Given the description of an element on the screen output the (x, y) to click on. 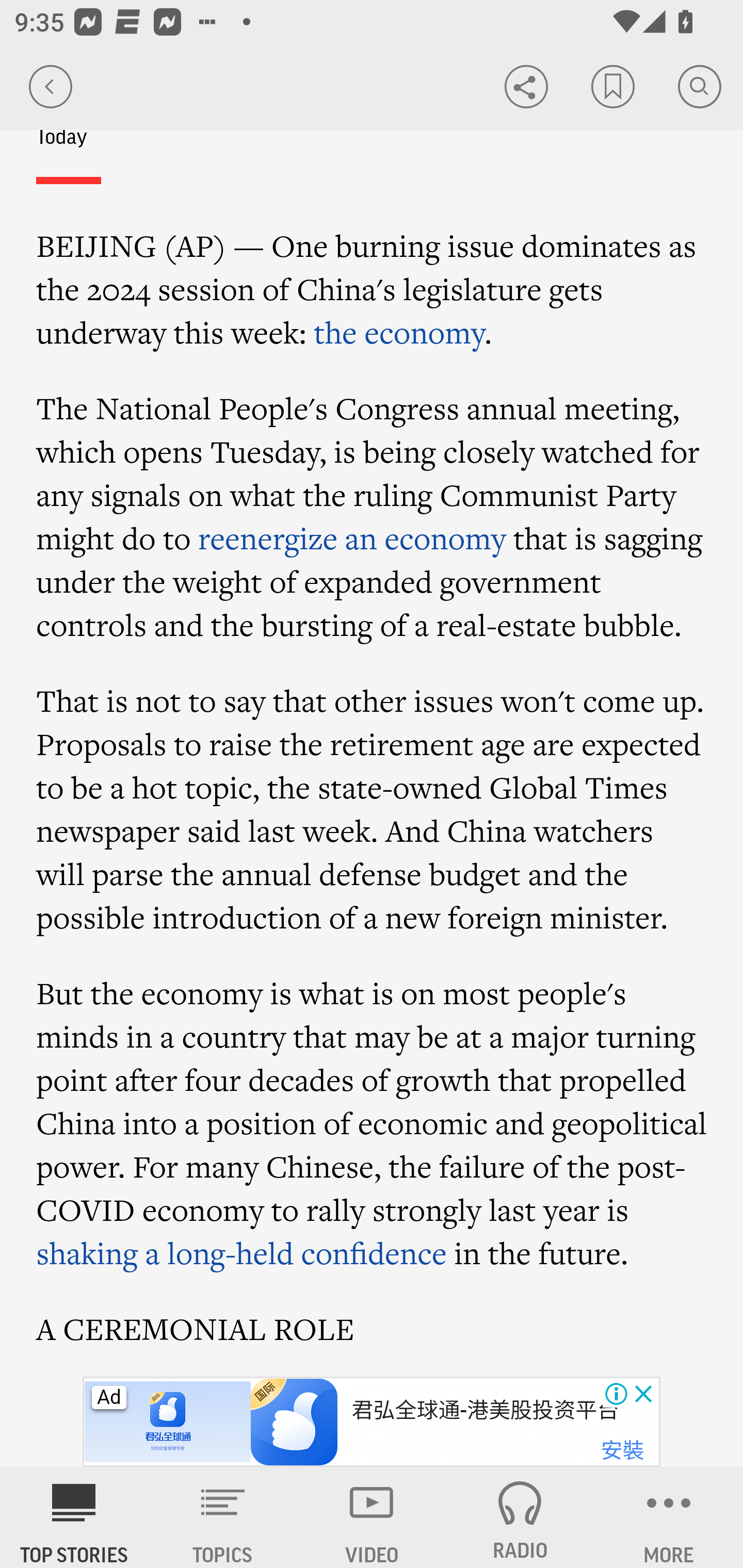
the economy (398, 332)
reenergize an economy (351, 538)
shaking a long-held confidence (242, 1253)
B29897659 (168, 1421)
君弘全球通-港美股投资平台 (484, 1410)
安裝 (621, 1450)
AP News TOP STORIES (74, 1517)
TOPICS (222, 1517)
VIDEO (371, 1517)
RADIO (519, 1517)
MORE (668, 1517)
